Given the description of an element on the screen output the (x, y) to click on. 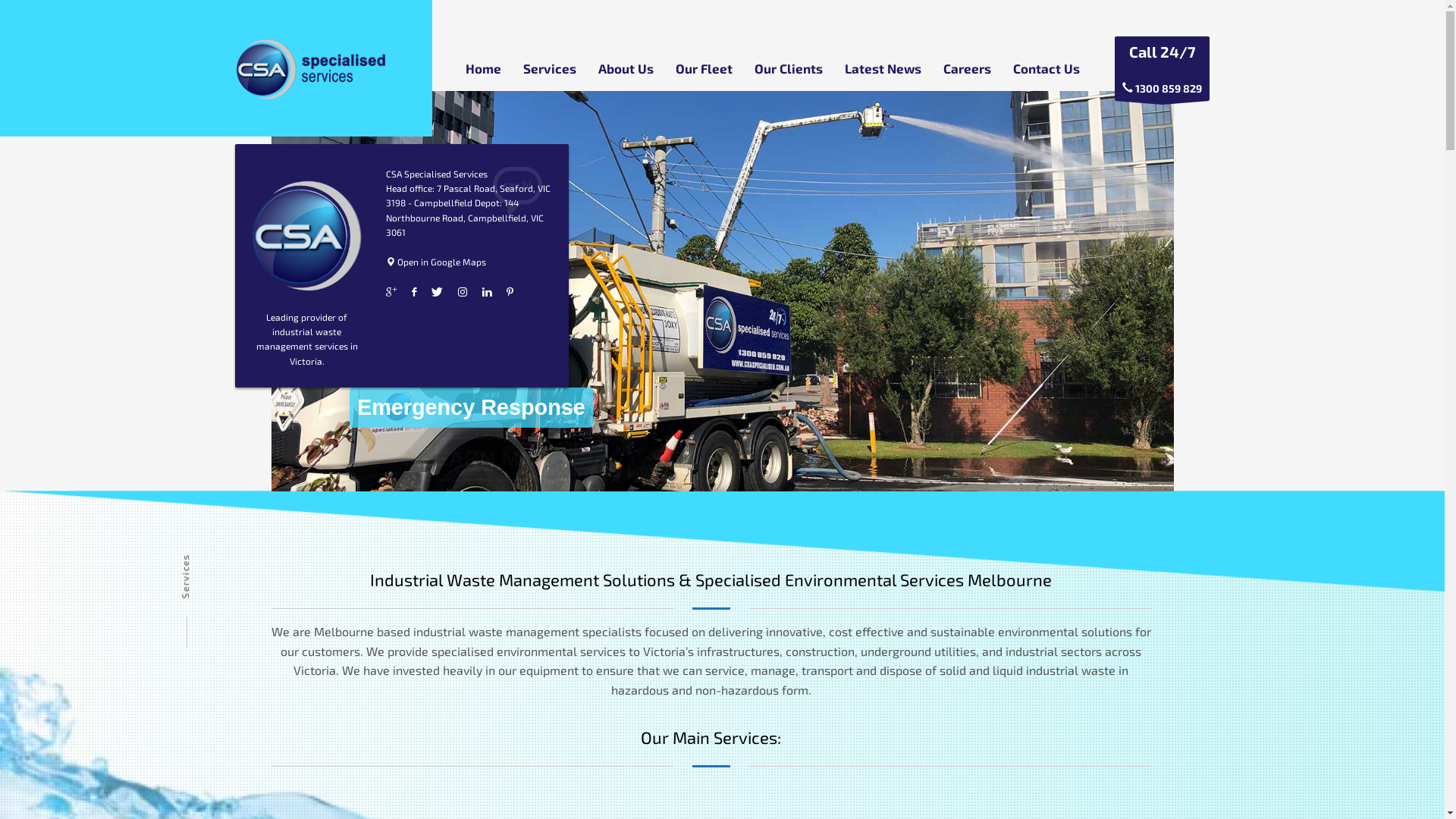
CSA Specialised Inkedin Element type: hover (486, 291)
About Us Element type: text (625, 68)
Latest News Element type: text (882, 68)
CSA Specialised Twitter Element type: hover (436, 291)
CSA Specialised Instagram Element type: hover (462, 291)
Services Element type: text (549, 68)
Open in Google Maps Element type: text (435, 261)
Call 24/7

1300 859 829 Element type: text (1161, 68)
Our Clients Element type: text (787, 68)
Contact Us Element type: text (1046, 68)
Our Fleet Element type: text (702, 68)
Home Element type: text (483, 68)
CSA Specialised Services Google Plus Element type: hover (390, 291)
Careers Element type: text (967, 68)
CSA Specialised Facebook Element type: hover (413, 291)
